Given the description of an element on the screen output the (x, y) to click on. 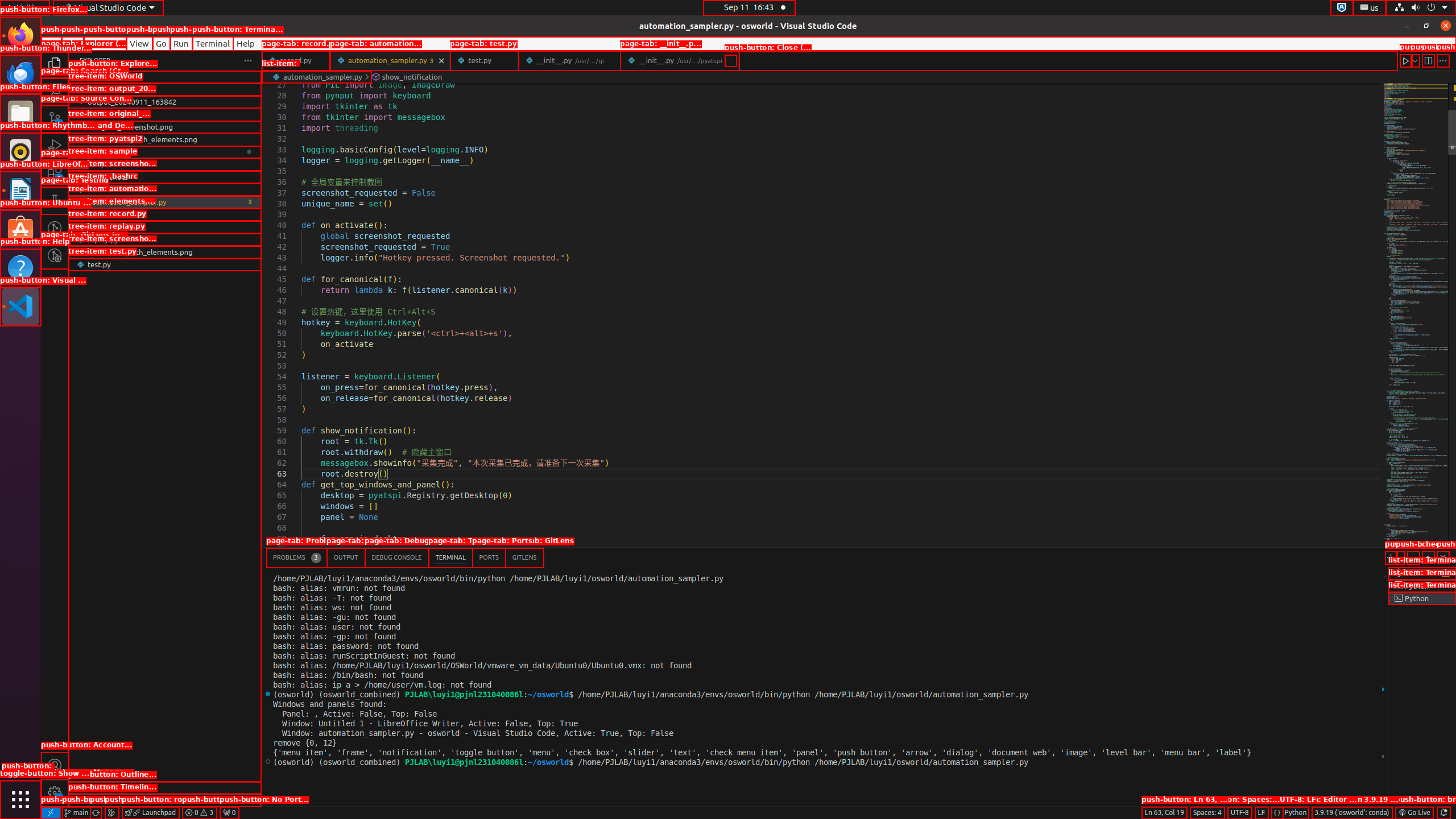
File Element type: push-button (50, 43)
Warnings: 3 Element type: push-button (199, 812)
Search (Ctrl+Shift+F) Element type: page-tab (54, 91)
Extensions (Ctrl+Shift+X) - 2 require update Element type: page-tab (54, 173)
